Given the description of an element on the screen output the (x, y) to click on. 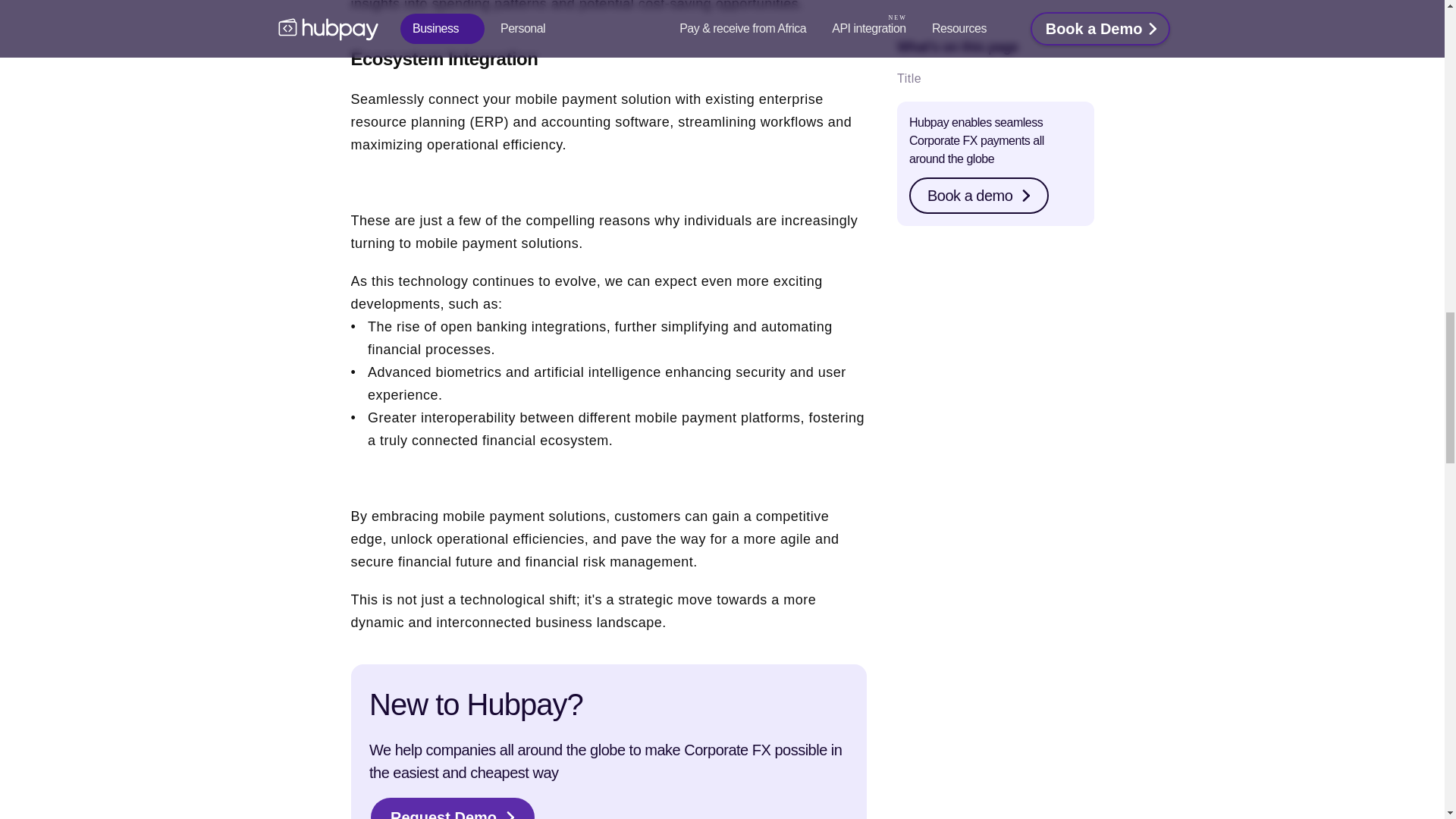
Request Demo (451, 807)
